Given the description of an element on the screen output the (x, y) to click on. 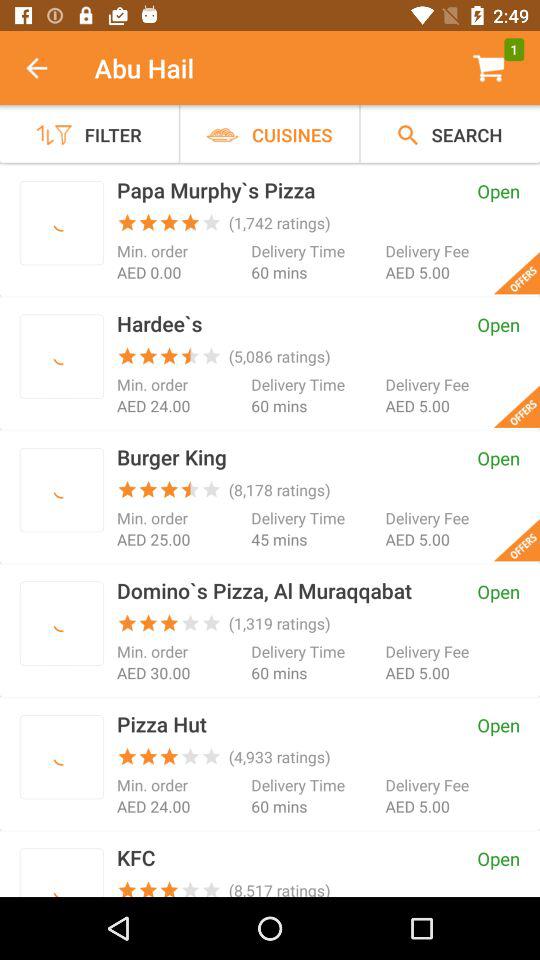
turn on the item to the left of the abu hail (47, 68)
